Given the description of an element on the screen output the (x, y) to click on. 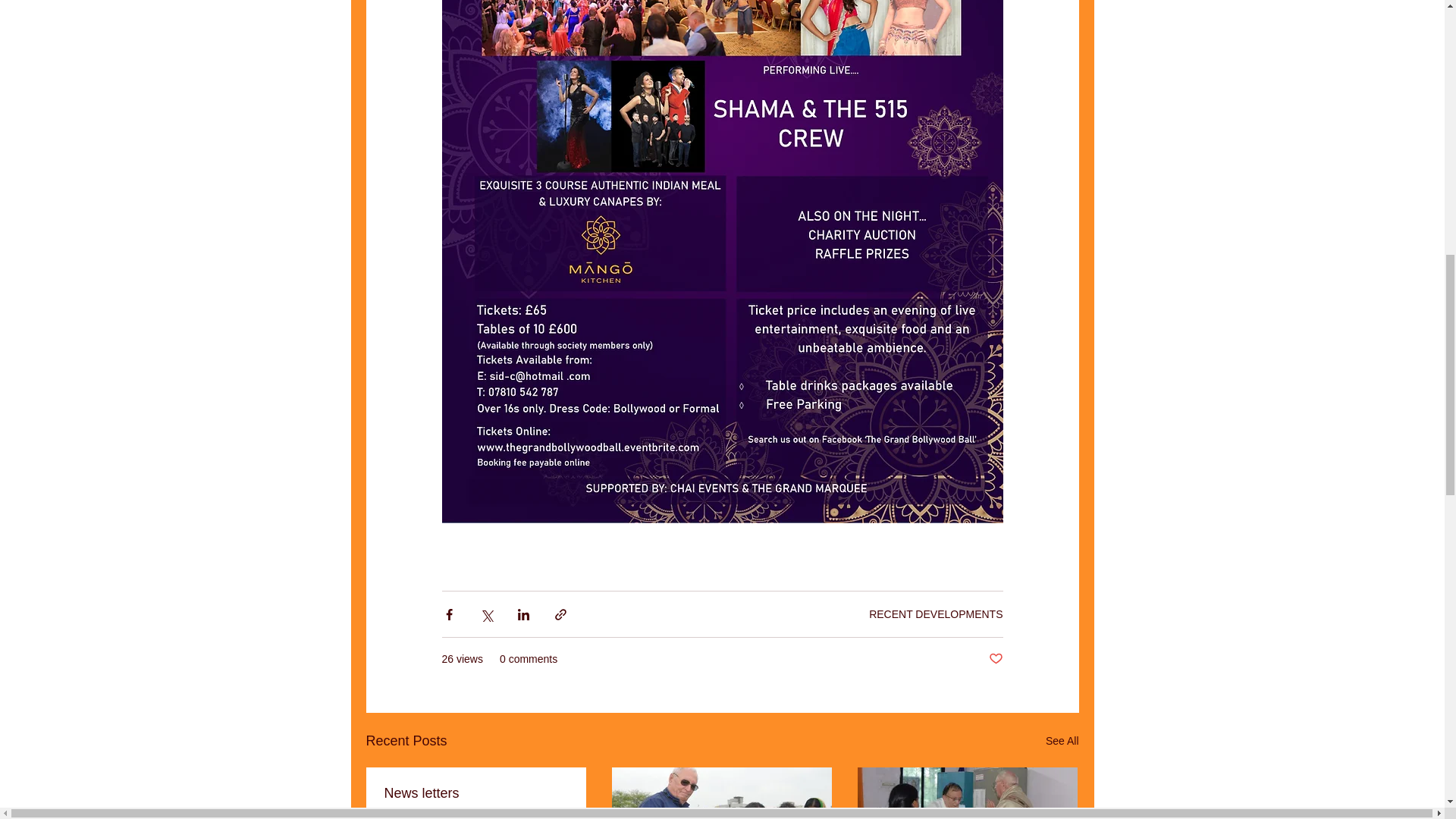
See All (1061, 741)
RECENT DEVELOPMENTS (936, 613)
News letters (475, 793)
Post not marked as liked (995, 659)
